Given the description of an element on the screen output the (x, y) to click on. 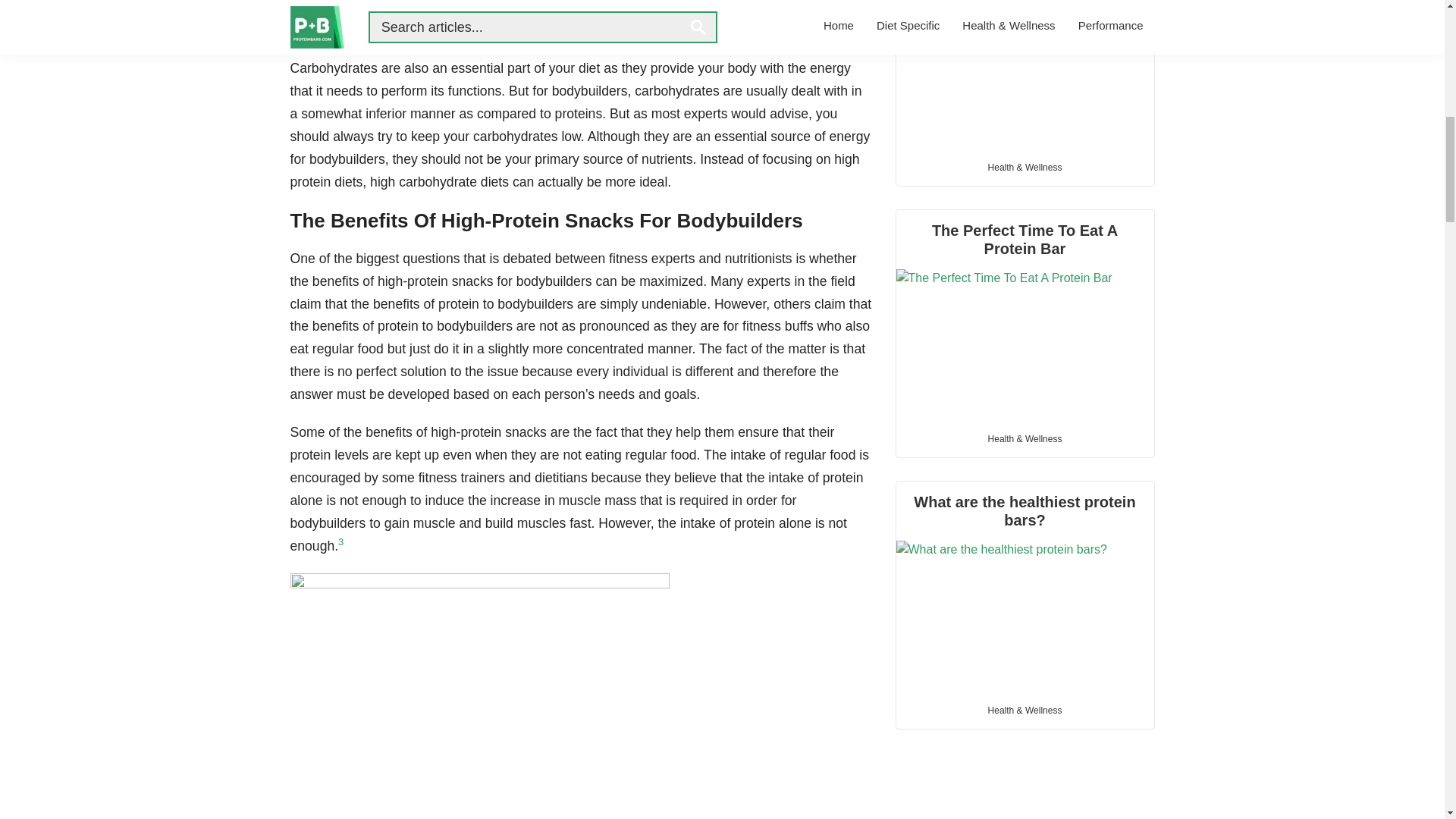
How Many Protein Bars Can I Eat A Day? - Protein Bars (1025, 74)
The Perfect Time To Eat A Protein Bar - Protein Bars (1025, 344)
The Perfect Time To Eat A Protein Bar (1025, 314)
How Many Protein Bars Can I Eat A Day? (1025, 74)
What are the healthiest protein bars? (1025, 586)
What are the healthiest protein bars? - Protein Bars (1025, 616)
